Given the description of an element on the screen output the (x, y) to click on. 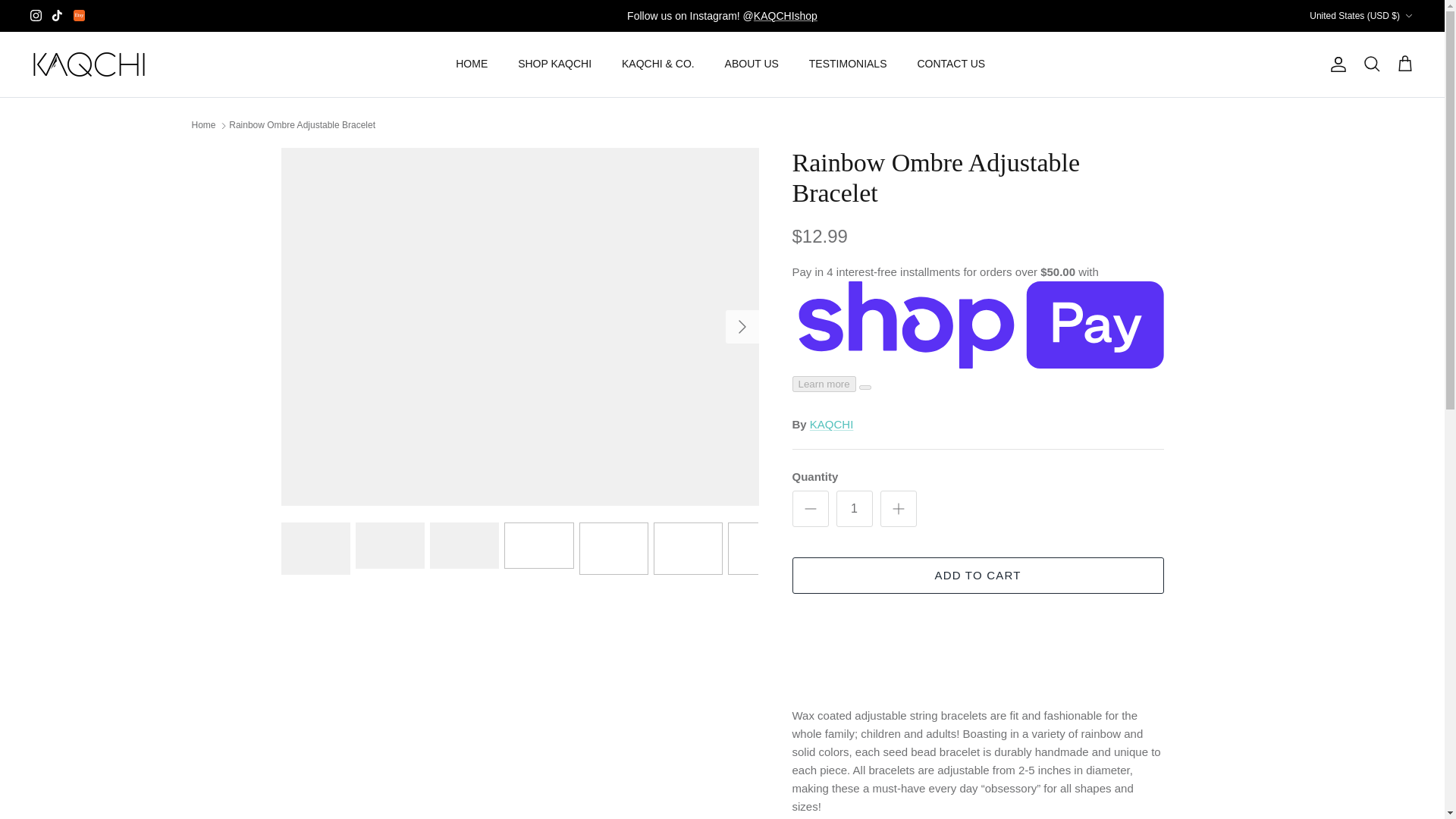
Down (1408, 15)
CONTACT US (950, 63)
Instagram (36, 15)
KAQCHIshop (785, 15)
ABOUT US (751, 63)
SHOP KAQCHI (554, 63)
Plus (897, 508)
HOME (471, 63)
TESTIMONIALS (847, 63)
1 (853, 508)
Minus (809, 508)
RIGHT (741, 326)
Instagram (36, 15)
KAQCHI (89, 63)
